Given the description of an element on the screen output the (x, y) to click on. 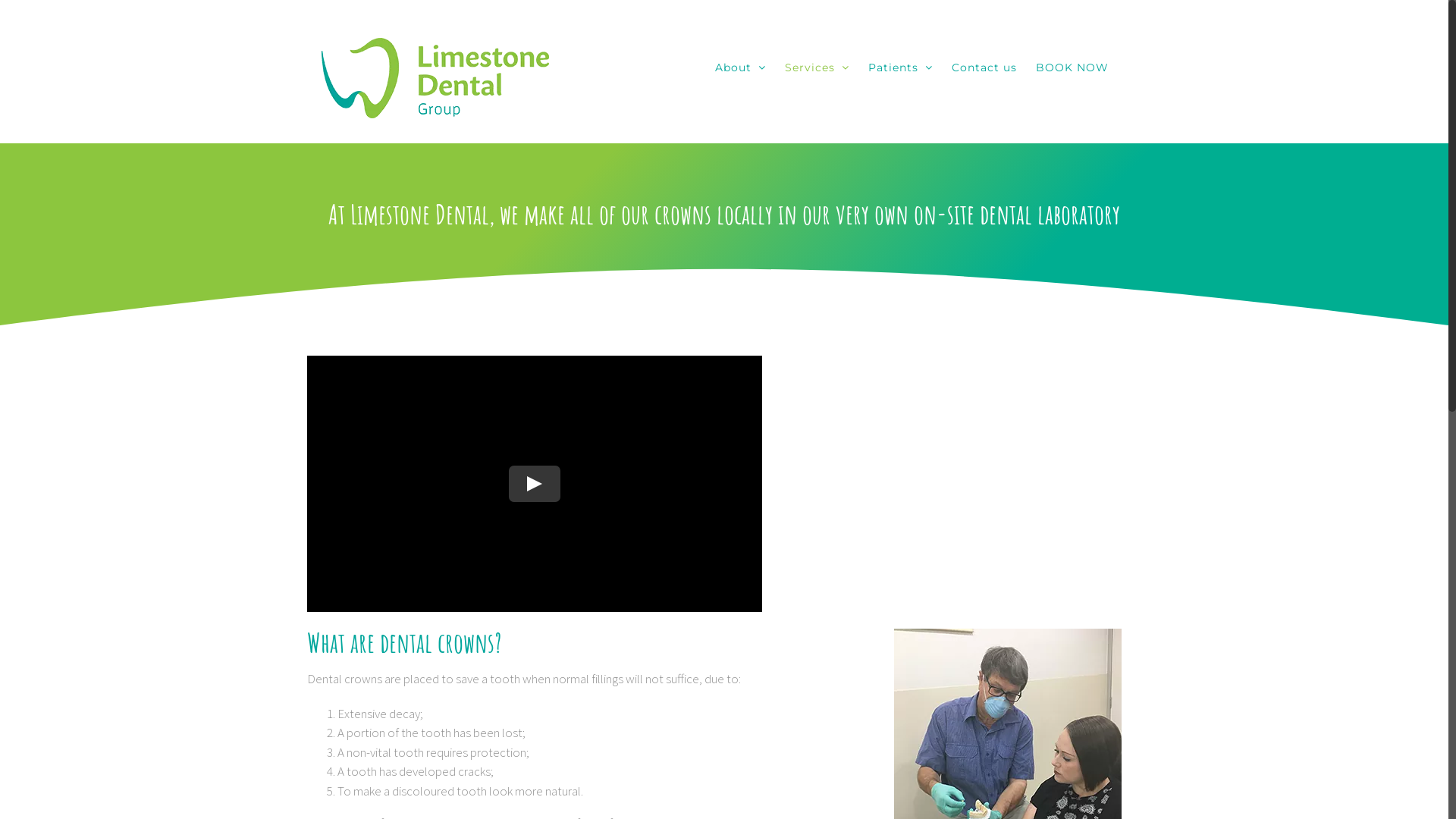
Services Element type: text (816, 66)
Contact us Element type: text (983, 66)
Patients Element type: text (899, 66)
BOOK NOW Element type: text (1071, 66)
About Element type: text (739, 66)
Play Element type: text (534, 483)
